Given the description of an element on the screen output the (x, y) to click on. 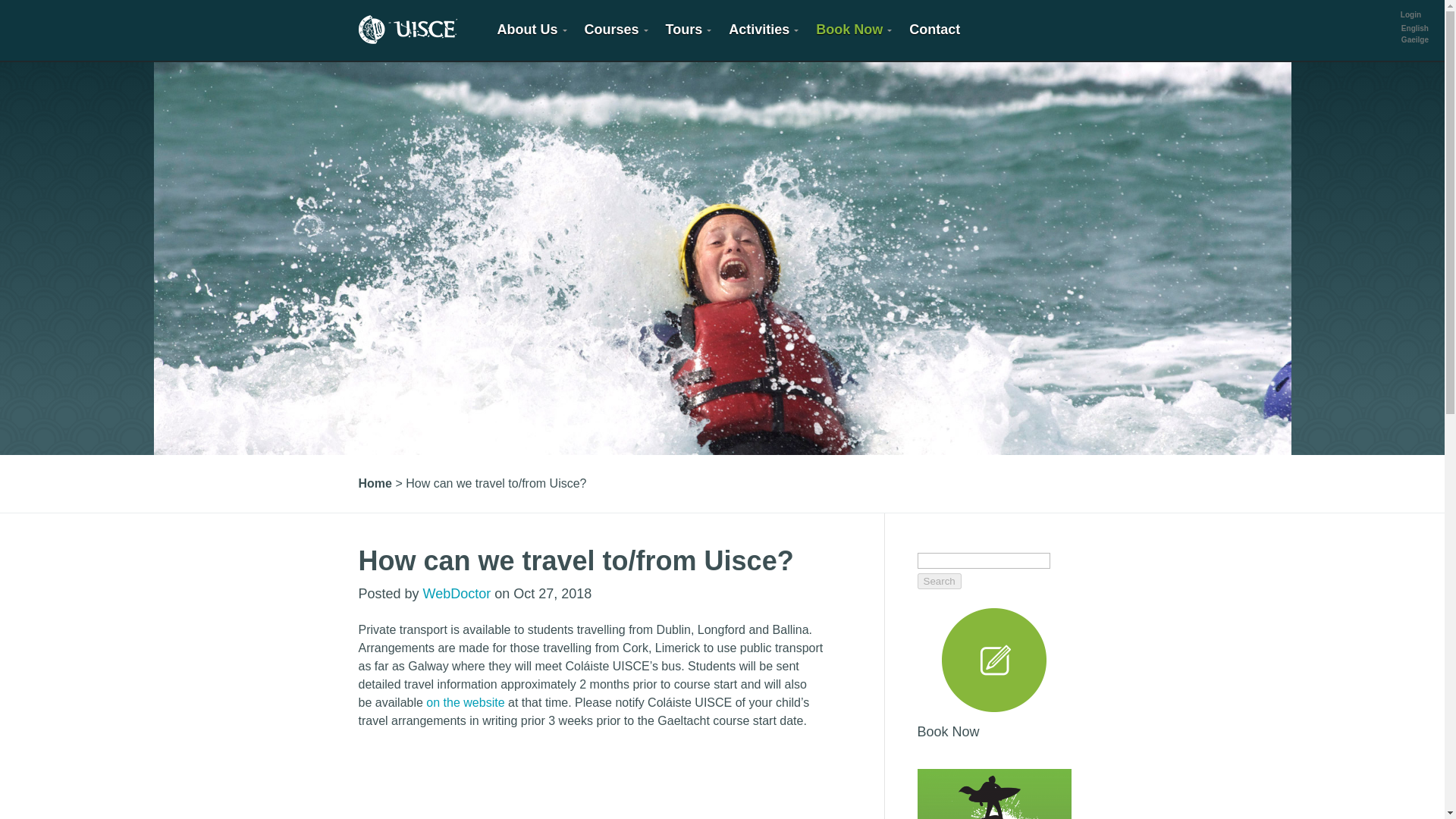
Search (938, 580)
About Us (528, 29)
Book Now (851, 29)
Posts by WebDoctor (457, 593)
Courses (613, 29)
Activities (761, 29)
Tours (685, 29)
Travel (464, 702)
